Given the description of an element on the screen output the (x, y) to click on. 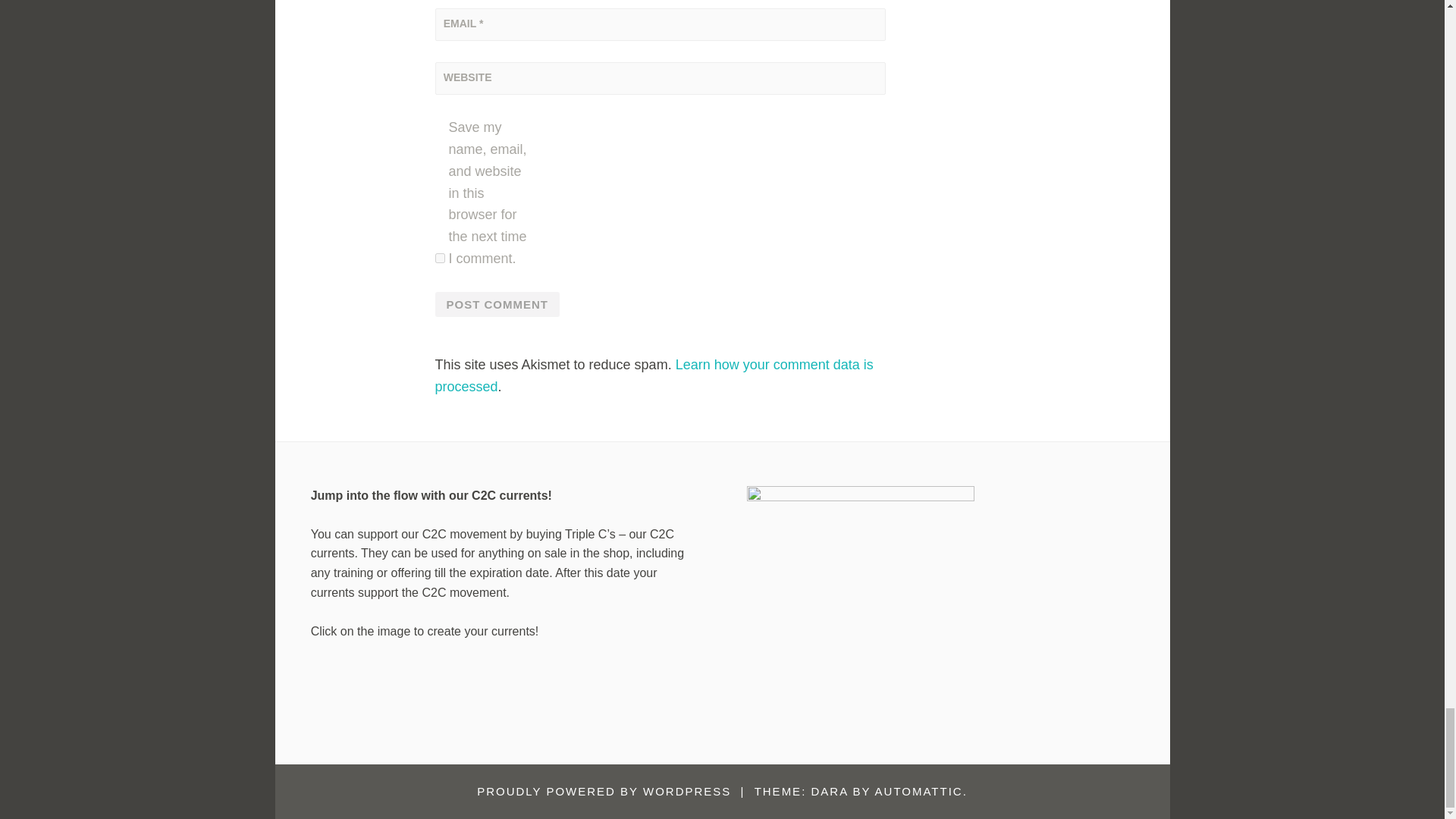
yes (440, 257)
Post Comment (497, 304)
